Given the description of an element on the screen output the (x, y) to click on. 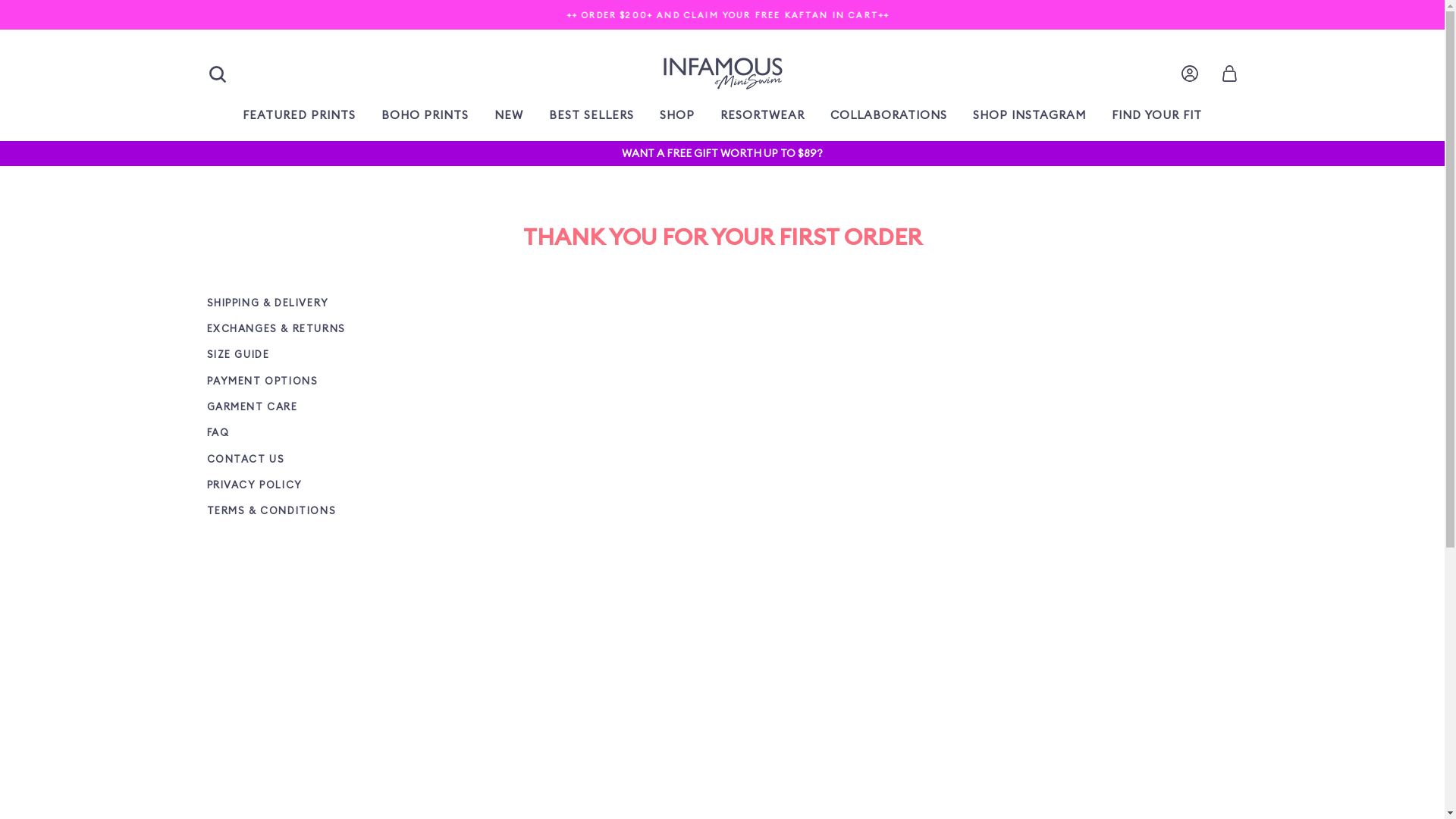
FIND YOUR FIT Element type: text (1156, 114)
CONTACT US Element type: text (328, 458)
NEW Element type: text (508, 114)
FAQ Element type: text (328, 433)
GARMENT CARE Element type: text (328, 407)
BEST SELLERS Element type: text (591, 114)
SHOP Element type: text (677, 114)
RESORTWEAR Element type: text (762, 114)
CART Element type: text (1228, 73)
FEATURED PRINTS Element type: text (299, 114)
SIZE GUIDE Element type: text (328, 355)
PAYMENT OPTIONS Element type: text (328, 380)
SEARCH Element type: text (216, 73)
EXCHANGES & RETURNS Element type: text (328, 328)
SHIPPING & DELIVERY Element type: text (328, 302)
BOHO PRINTS Element type: text (425, 114)
SHOP INSTAGRAM Element type: text (1029, 114)
Skip to content Element type: text (0, 0)
PRIVACY POLICY Element type: text (328, 485)
LOG IN Element type: text (1188, 73)
TERMS & CONDITIONS Element type: text (328, 511)
COLLABORATIONS Element type: text (888, 114)
